Given the description of an element on the screen output the (x, y) to click on. 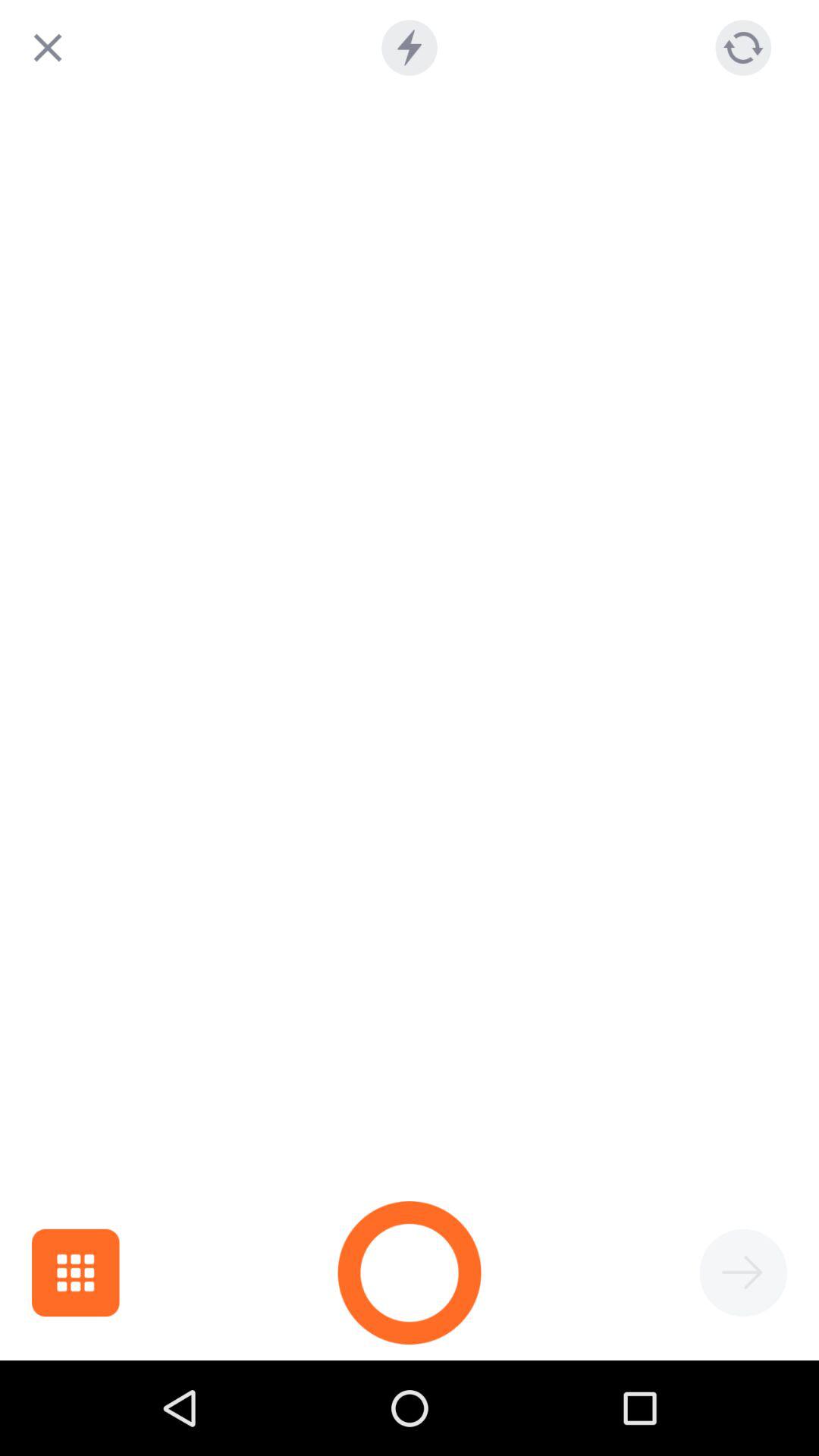
click to refresh (743, 47)
